Given the description of an element on the screen output the (x, y) to click on. 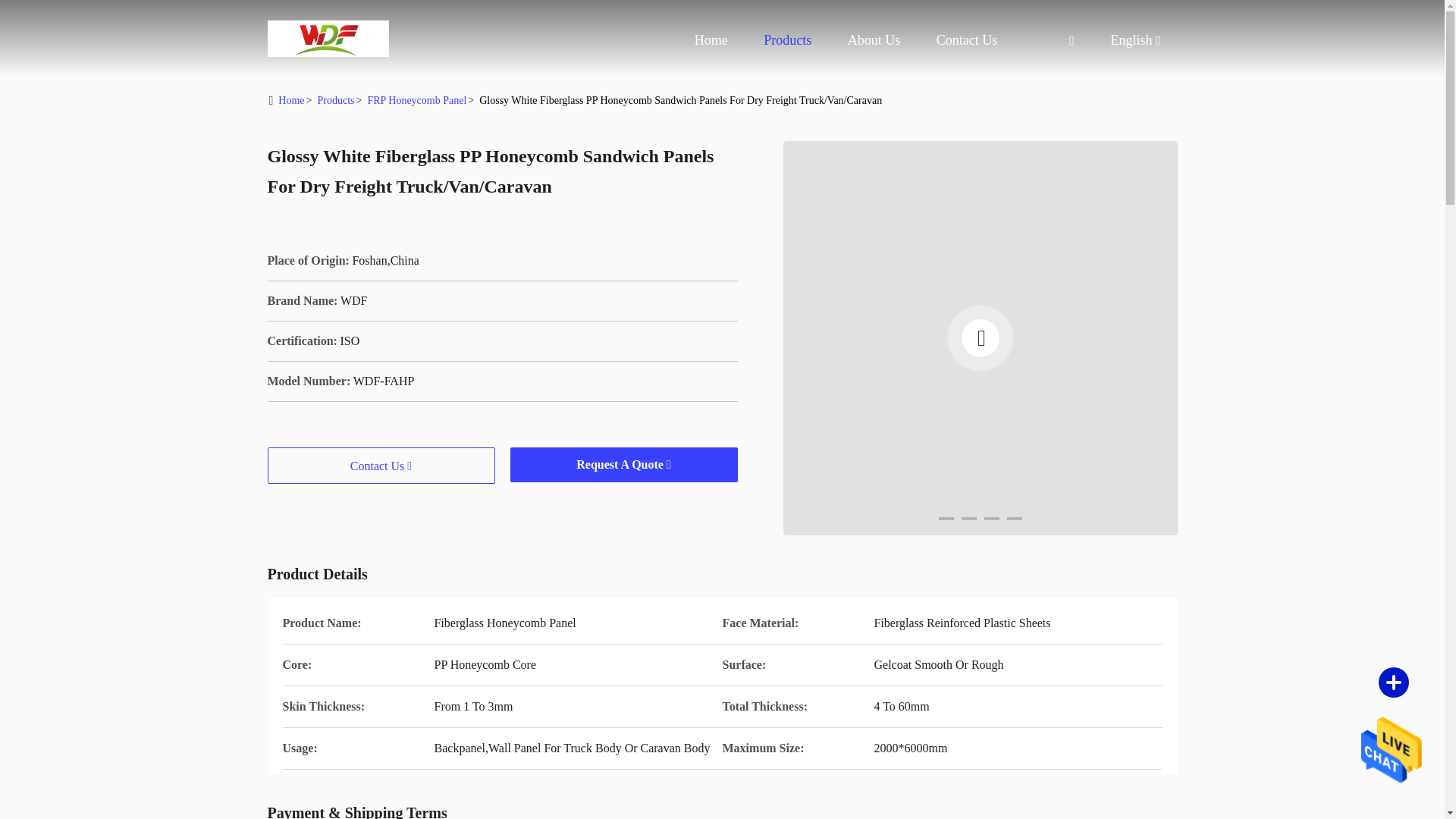
Products (786, 40)
Home (327, 37)
About Us (874, 40)
Contact Us (966, 40)
Products (786, 40)
Contact Us (966, 40)
About Us (874, 40)
